Given the description of an element on the screen output the (x, y) to click on. 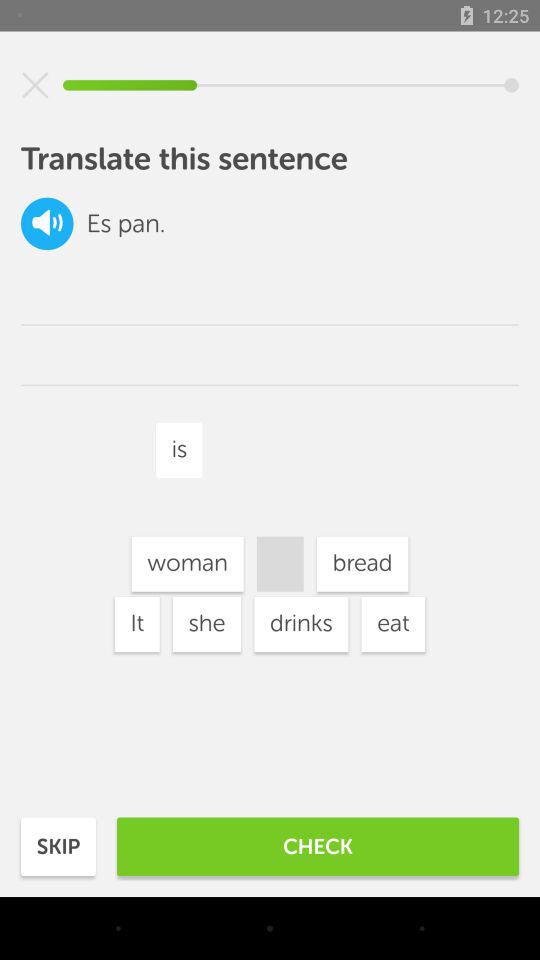
turn off she icon (206, 624)
